Given the description of an element on the screen output the (x, y) to click on. 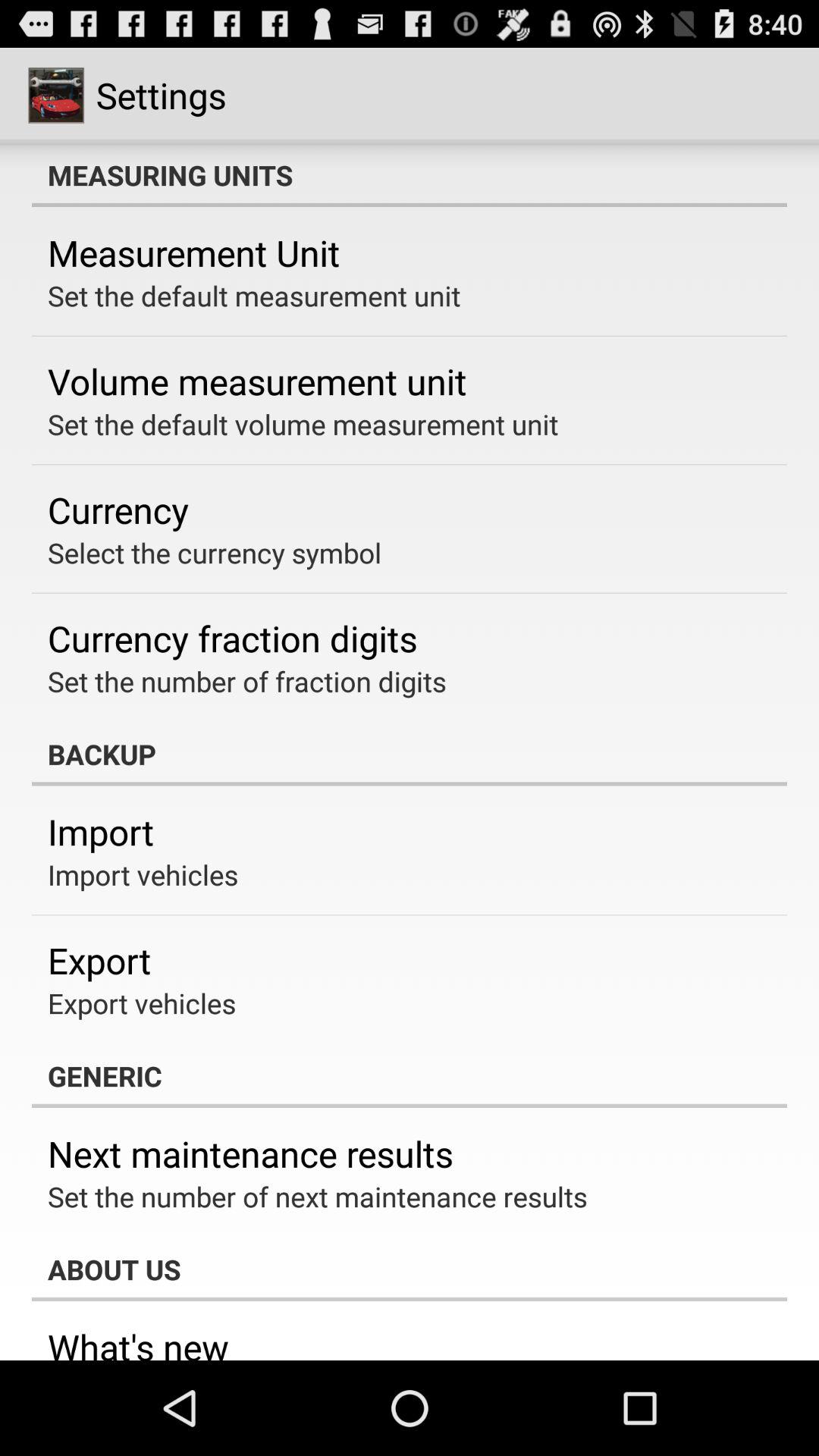
turn off import vehicles app (142, 874)
